Given the description of an element on the screen output the (x, y) to click on. 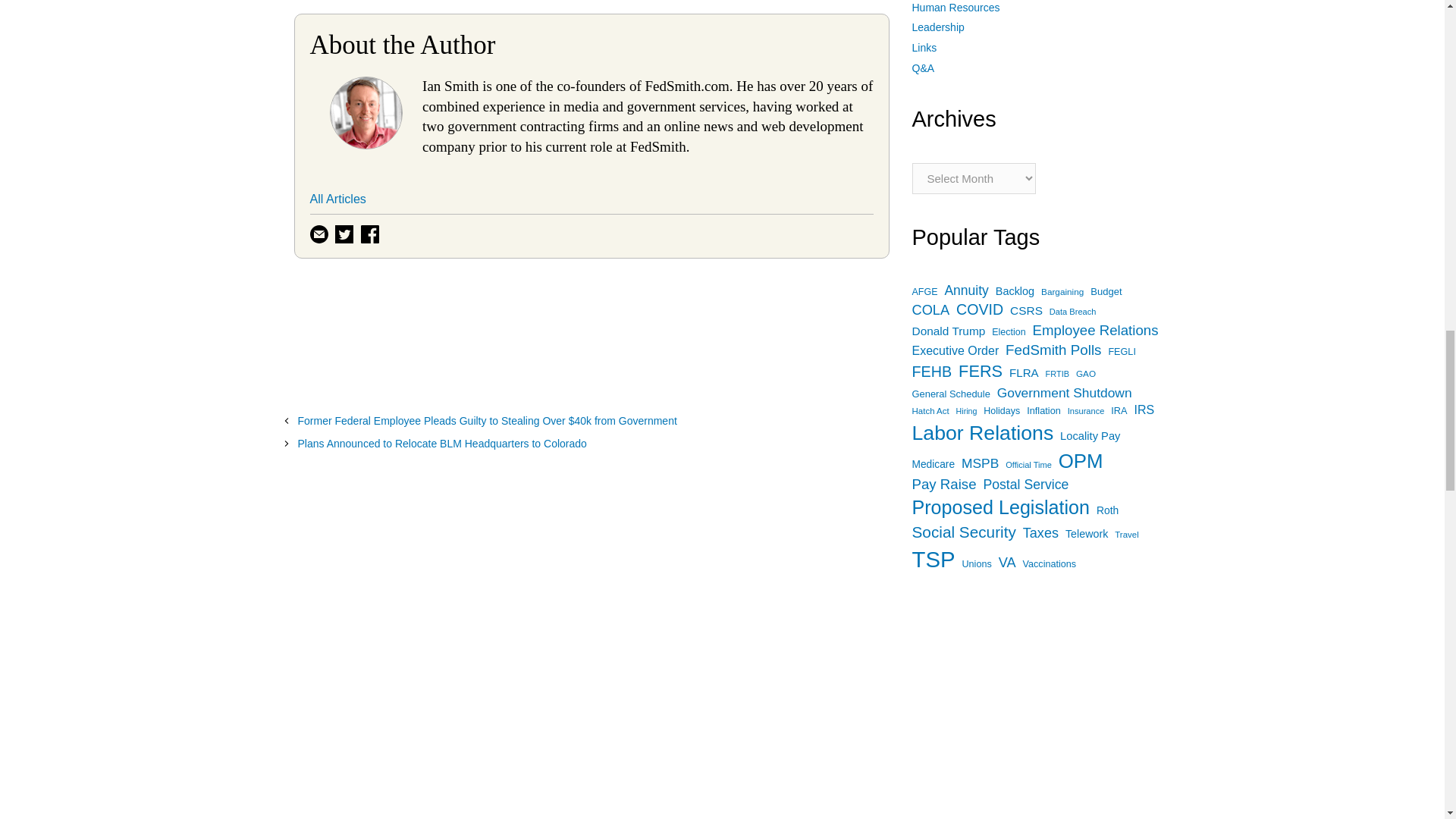
Follow Ian Smith on Twitter (345, 232)
All Articles (336, 198)
Follow Ian Smith on Facebook (371, 232)
View all articles from Ian Smith (366, 144)
Plans Announced to Relocate BLM Headquarters to Colorado (441, 443)
Contact Ian Smith (319, 232)
See all articles from Ian Smith (336, 198)
